Given the description of an element on the screen output the (x, y) to click on. 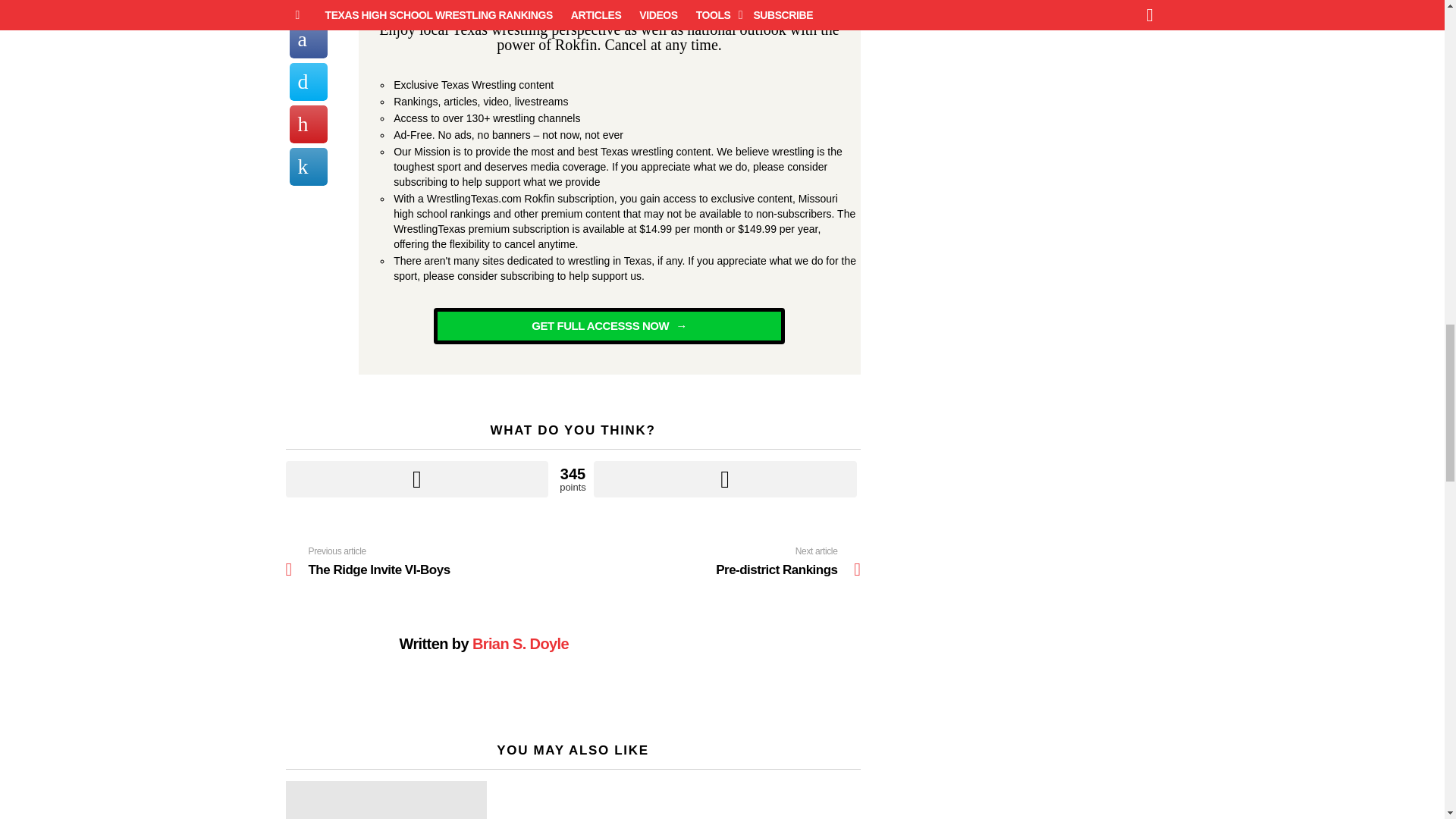
Upvote (416, 479)
Upvote (428, 561)
Downvote (416, 479)
GET FULL ACCESSS NOW (716, 561)
Downvote (725, 479)
